Given the description of an element on the screen output the (x, y) to click on. 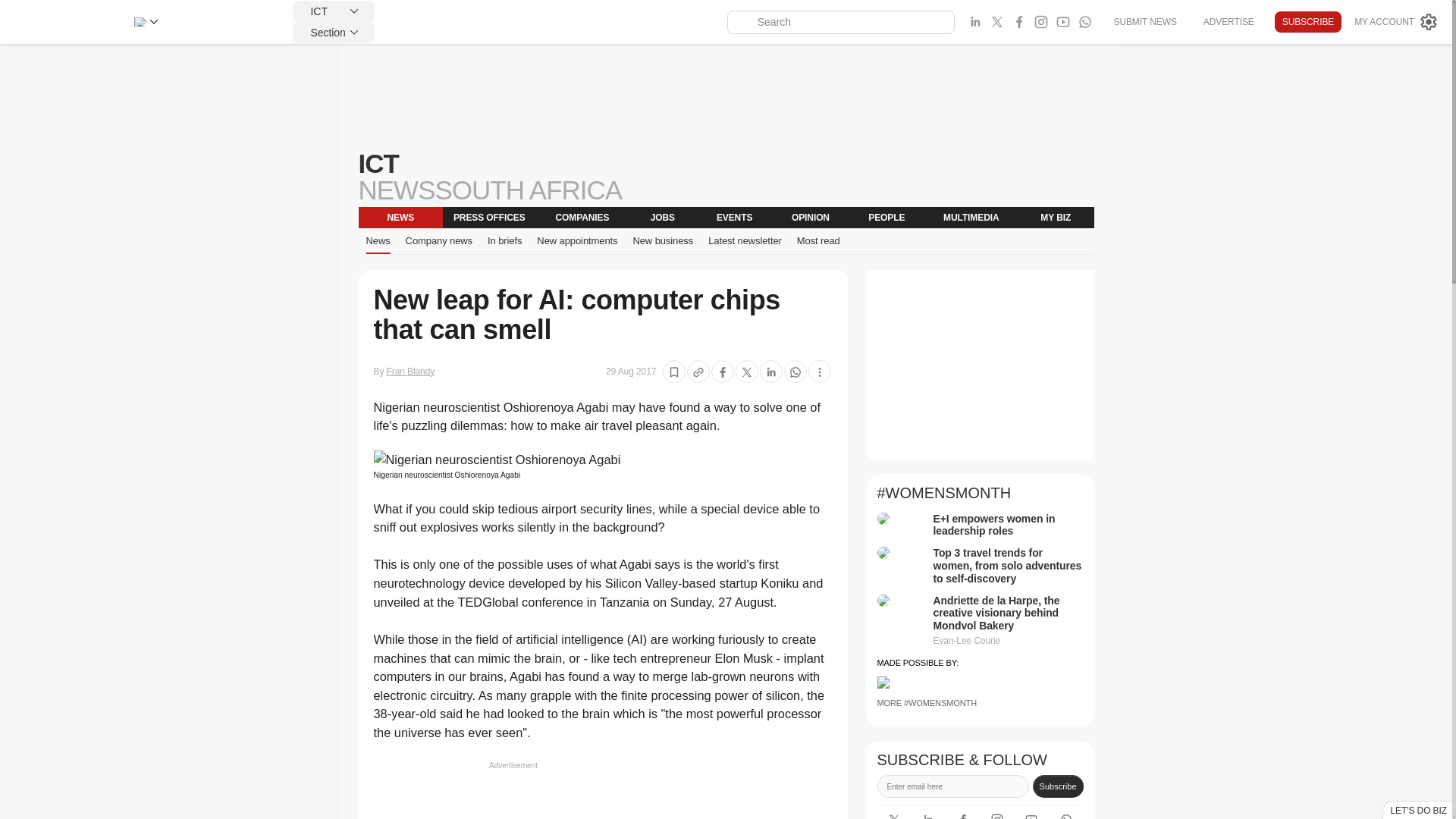
ICT (333, 11)
Bizcommunity youtube (1062, 22)
Bizcommunity facebook (962, 814)
SUBMIT NEWS (1144, 21)
MY ACCOUNT (1396, 21)
Bizcommunity facebook (1084, 22)
SUBSCRIBE (1307, 21)
Bizcommunity instagram (1040, 22)
ADVERTISE (1228, 21)
Bizcommunity linked (927, 814)
